Given the description of an element on the screen output the (x, y) to click on. 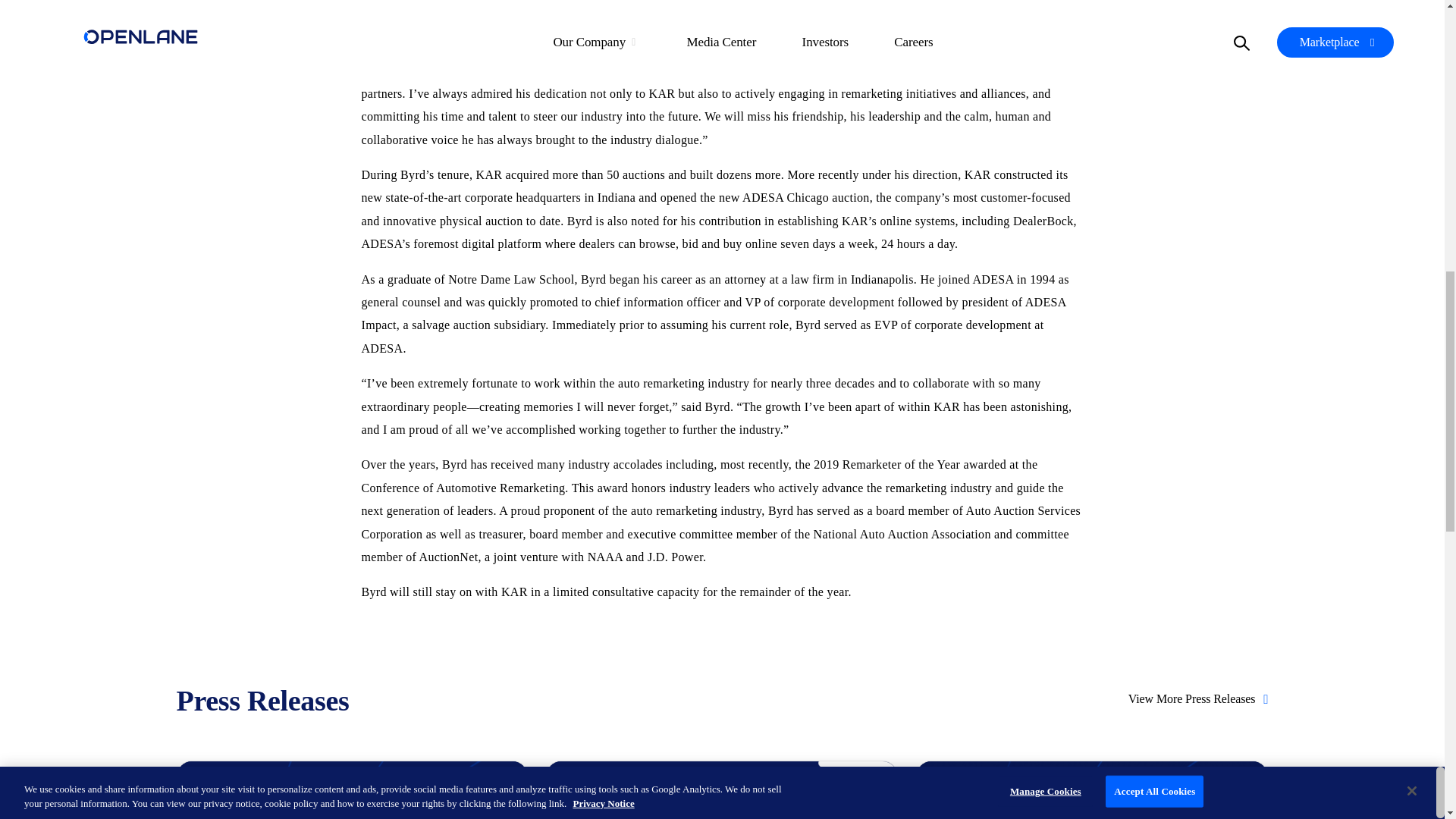
View More Press Releases (1198, 698)
